Given the description of an element on the screen output the (x, y) to click on. 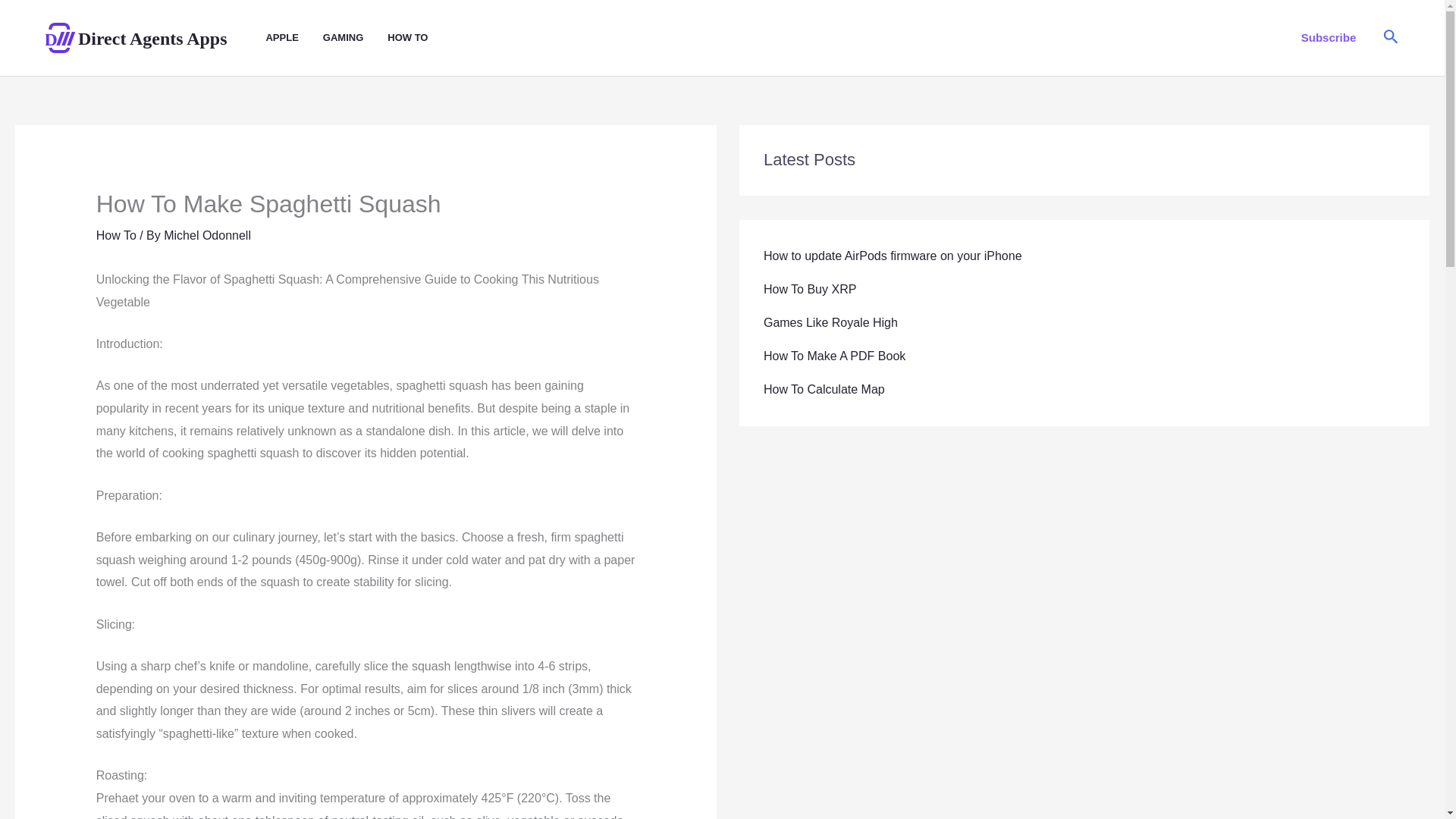
How To (116, 235)
How To Make A PDF Book (833, 355)
How To Buy XRP (809, 288)
Michel Odonnell (206, 235)
Games Like Royale High (830, 322)
How to update AirPods firmware on your iPhone (892, 255)
Subscribe (1328, 37)
View all posts by Michel Odonnell (206, 235)
How To Calculate Map (823, 389)
